Given the description of an element on the screen output the (x, y) to click on. 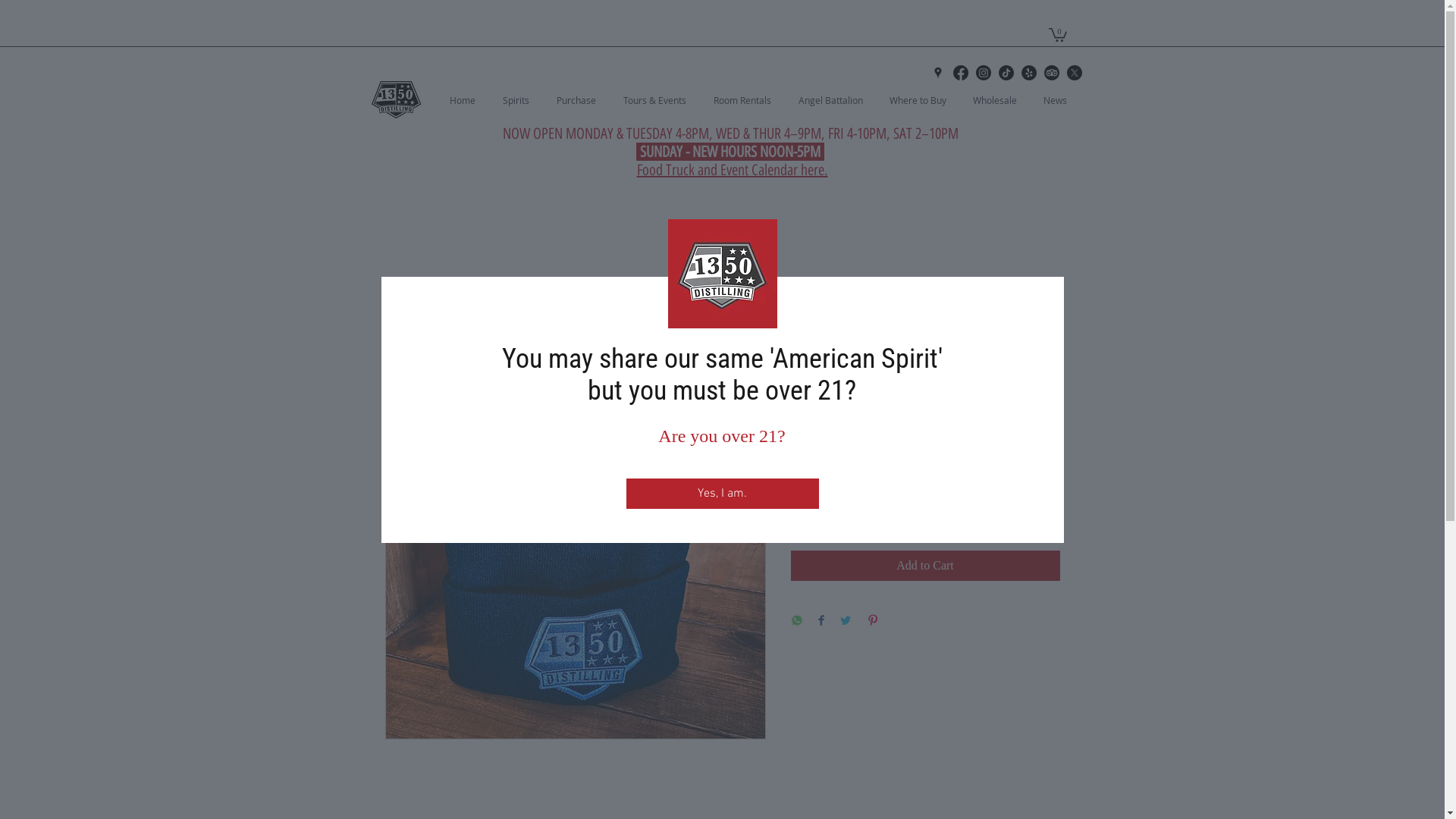
Angel Battalion Element type: text (835, 99)
Home Element type: text (467, 99)
Tours & Events Element type: text (660, 99)
Add to Cart Element type: text (924, 565)
Food Truck and Event Calendar here. Element type: text (732, 169)
Where to Buy Element type: text (922, 99)
Beanie Knit Hat Element type: text (462, 300)
Room Rentals Element type: text (747, 99)
Home Element type: text (399, 300)
Spirits Element type: text (521, 99)
Wholesale Element type: text (999, 99)
News Element type: text (1060, 99)
0 Element type: text (1057, 33)
Purchase Element type: text (582, 99)
